Given the description of an element on the screen output the (x, y) to click on. 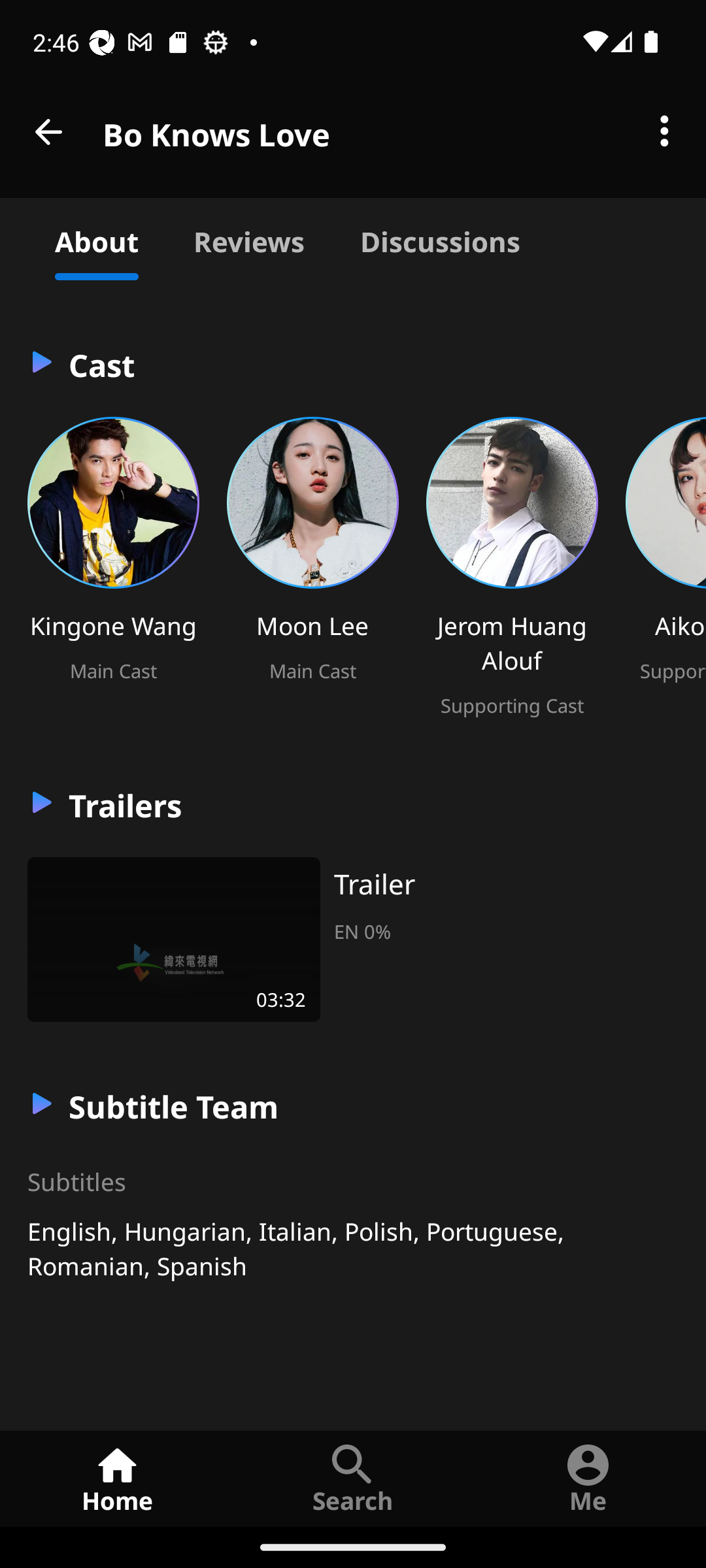
More (664, 131)
Reviews (248, 238)
Discussions (439, 238)
Search (352, 1478)
Me (588, 1478)
